Given the description of an element on the screen output the (x, y) to click on. 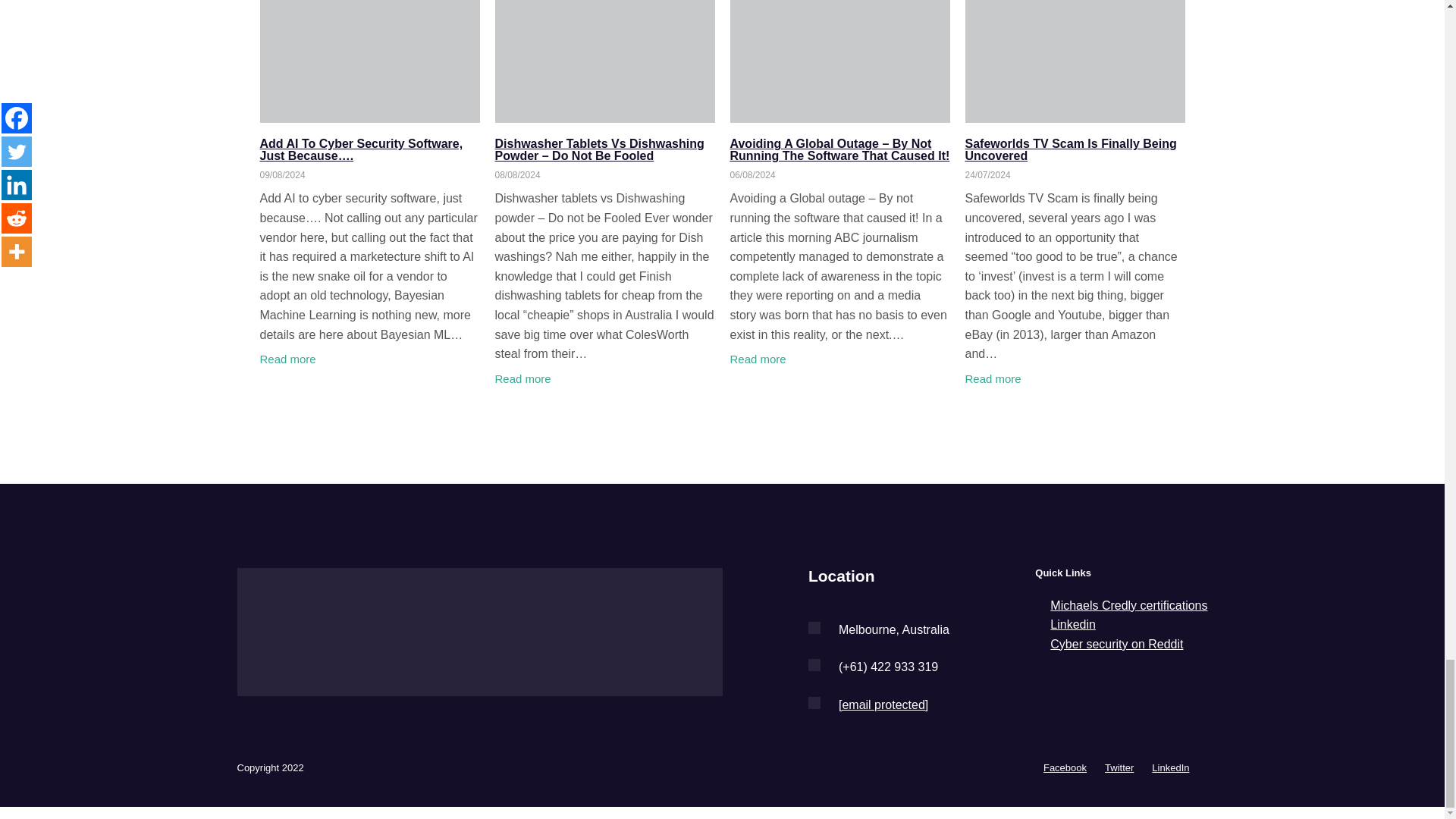
Read more (287, 359)
Read more (757, 359)
Read more (522, 379)
